Given the description of an element on the screen output the (x, y) to click on. 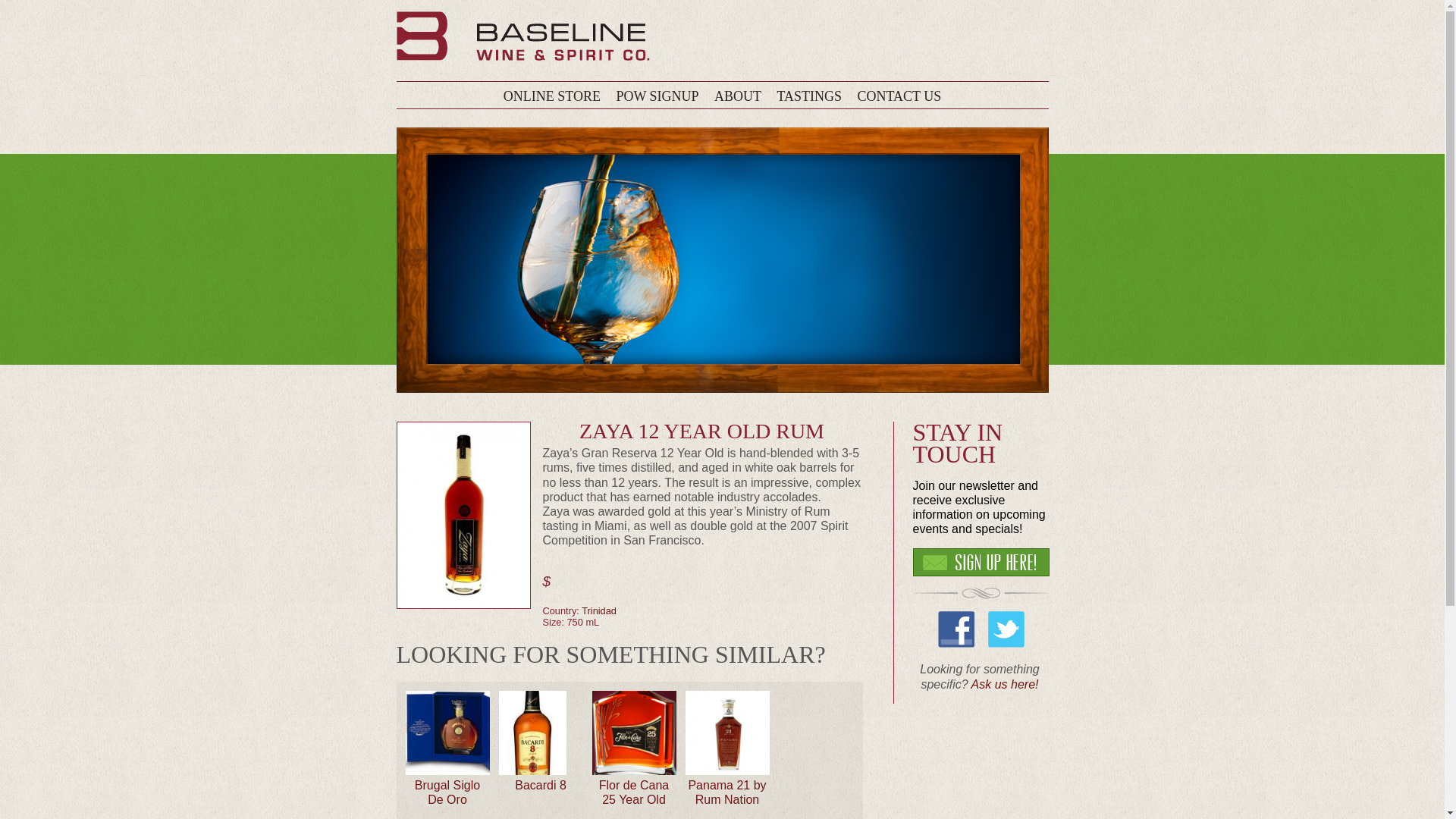
Panama 21 by Rum Nation (726, 791)
Bacardi 8 (540, 784)
Flor de Cana 25 Year Old (633, 791)
Trinidad (597, 610)
CONTACT US (898, 96)
Online Store (551, 96)
Brugal Siglo De Oro (447, 791)
ABOUT (737, 96)
POW SIGNUP (656, 96)
TASTINGS (808, 96)
ONLINE STORE (551, 96)
Newsletter (656, 96)
Ask us here! (1005, 684)
